Given the description of an element on the screen output the (x, y) to click on. 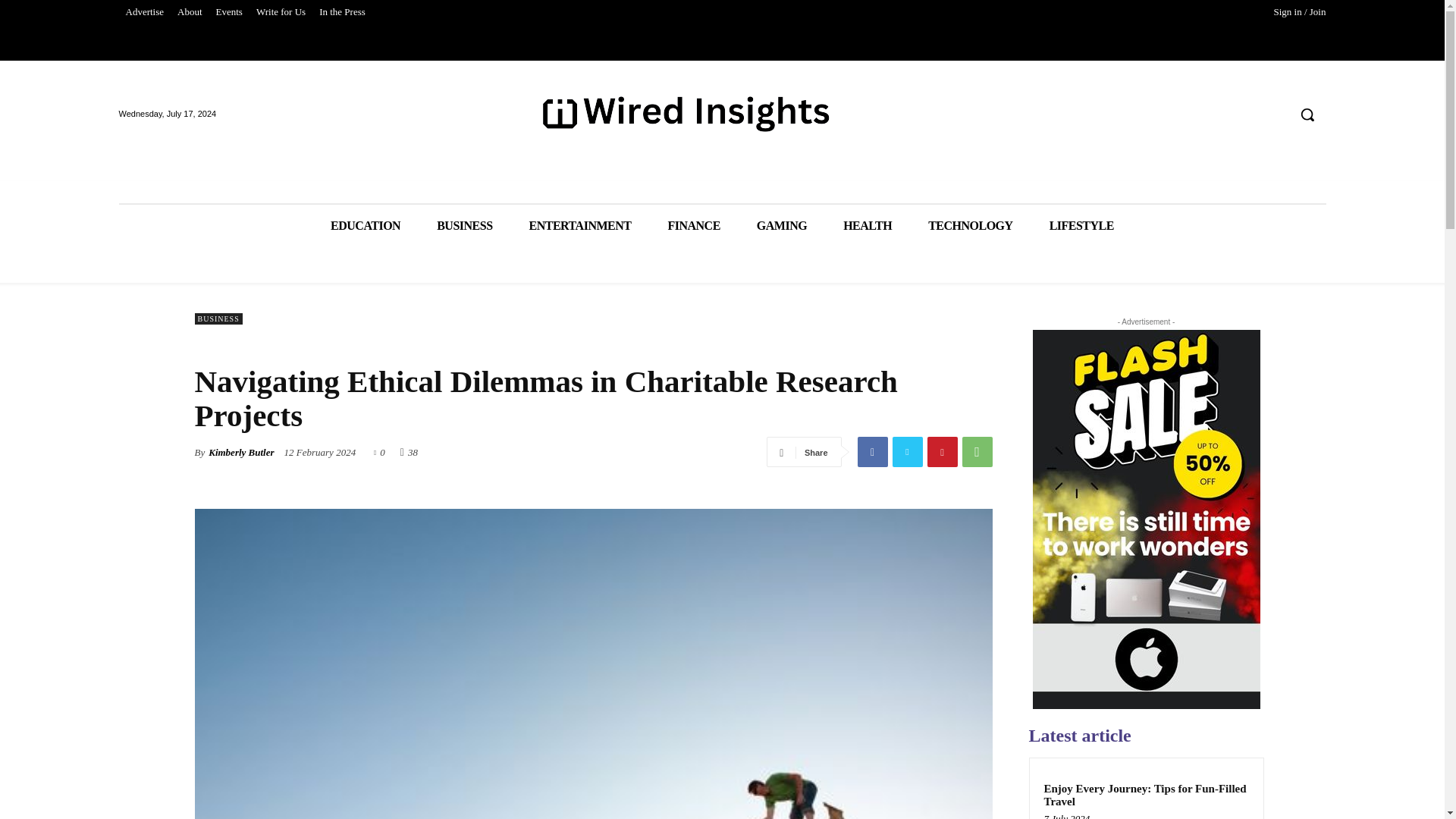
Pinterest (941, 451)
EDUCATION (366, 225)
ENTERTAINMENT (580, 225)
Write for Us (280, 12)
GAMING (781, 225)
BUSINESS (465, 225)
Advertise (143, 12)
LIFESTYLE (1081, 225)
Twitter (906, 451)
In the Press (342, 12)
Facebook (871, 451)
TECHNOLOGY (970, 225)
About (189, 12)
FINANCE (693, 225)
WhatsApp (975, 451)
